Given the description of an element on the screen output the (x, y) to click on. 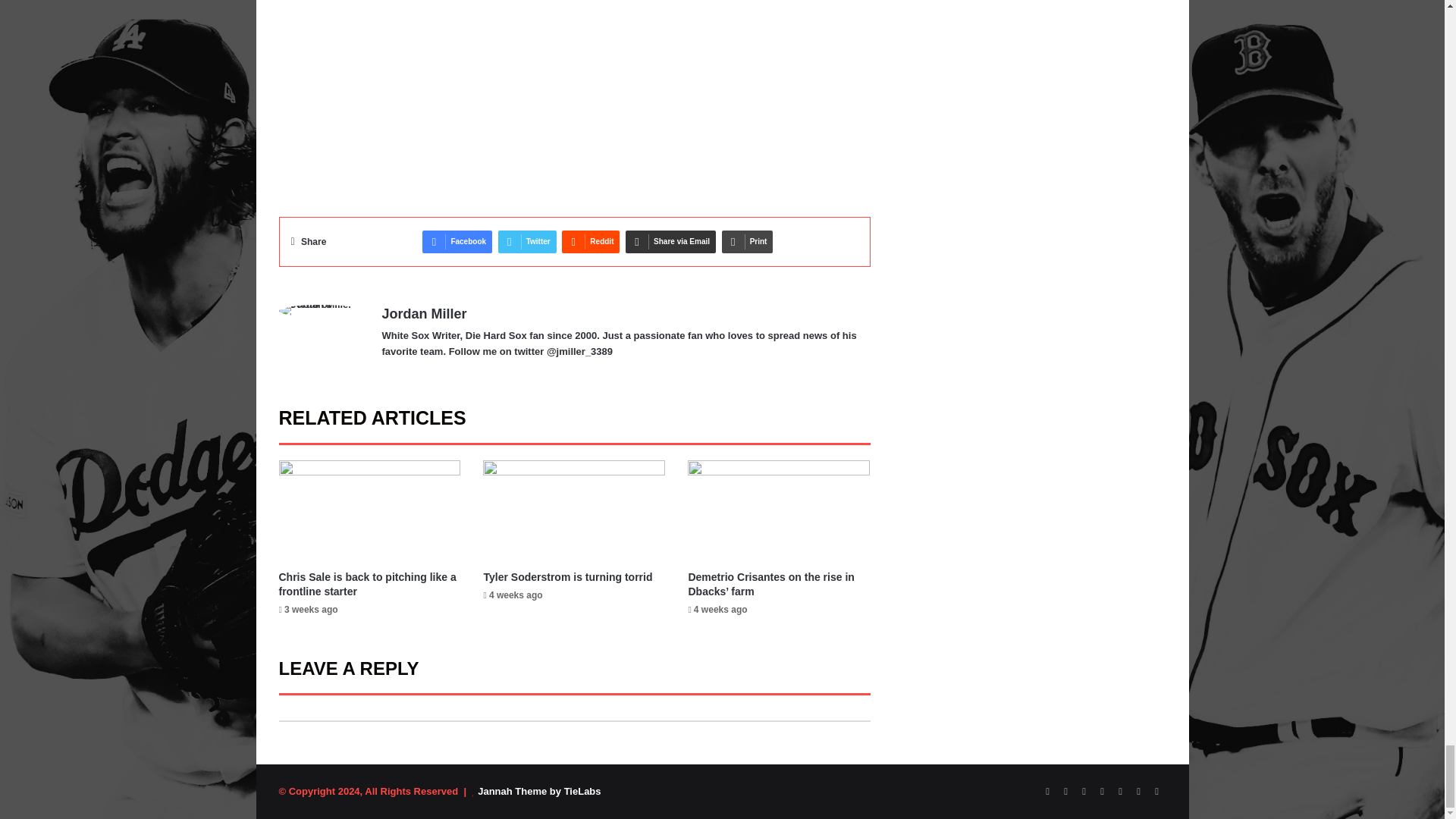
Reddit (591, 241)
Share via Email (671, 241)
Print (747, 241)
Twitter (526, 241)
Facebook (457, 241)
